Given the description of an element on the screen output the (x, y) to click on. 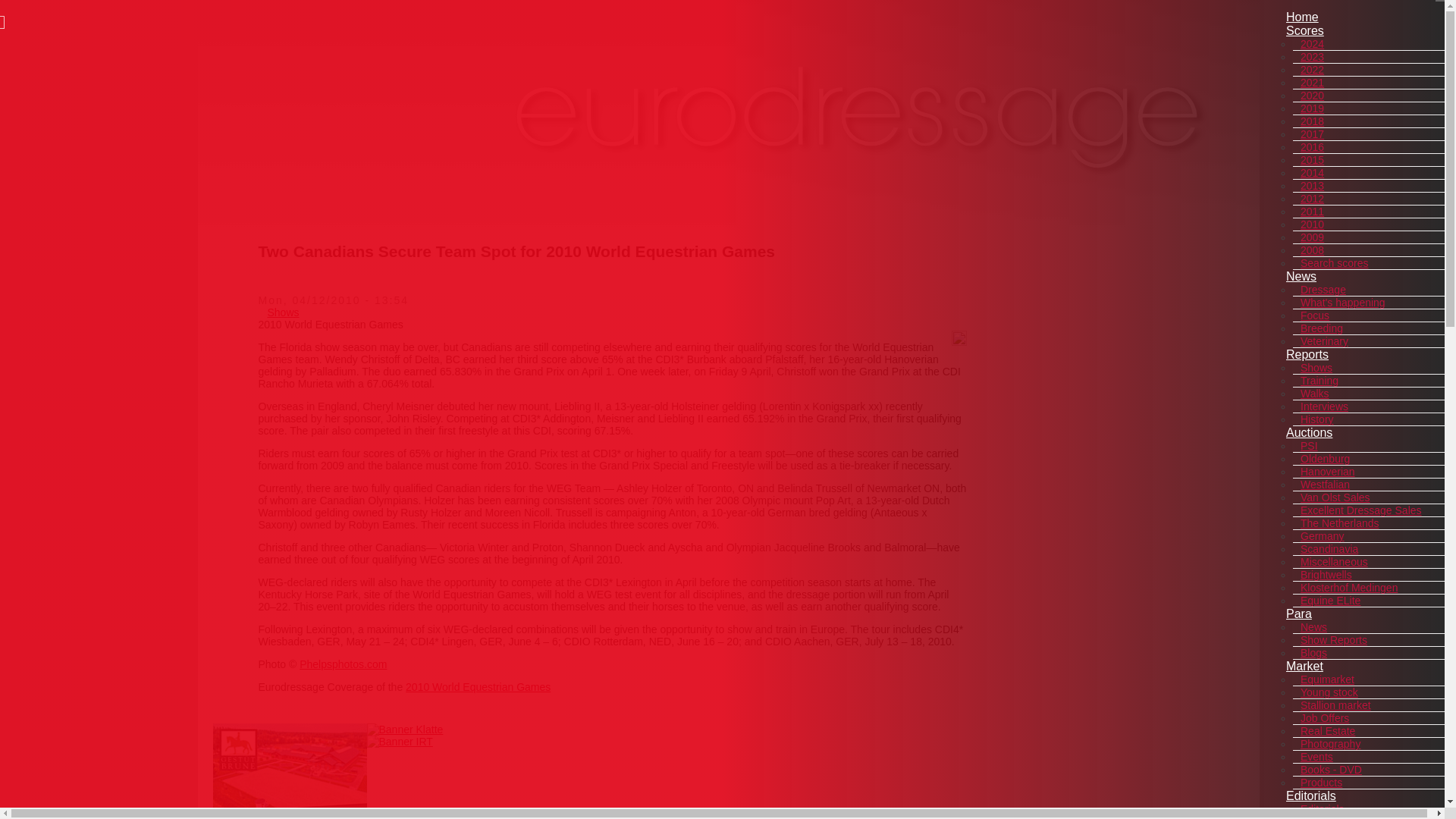
Dressage (1323, 289)
2014 (1312, 172)
2023 (1312, 56)
Oldenburg (1324, 458)
2019 (1312, 108)
2009 (1312, 236)
Veterinary (1323, 340)
Focus (1314, 315)
2022 (1312, 69)
Shows (1315, 367)
